Given the description of an element on the screen output the (x, y) to click on. 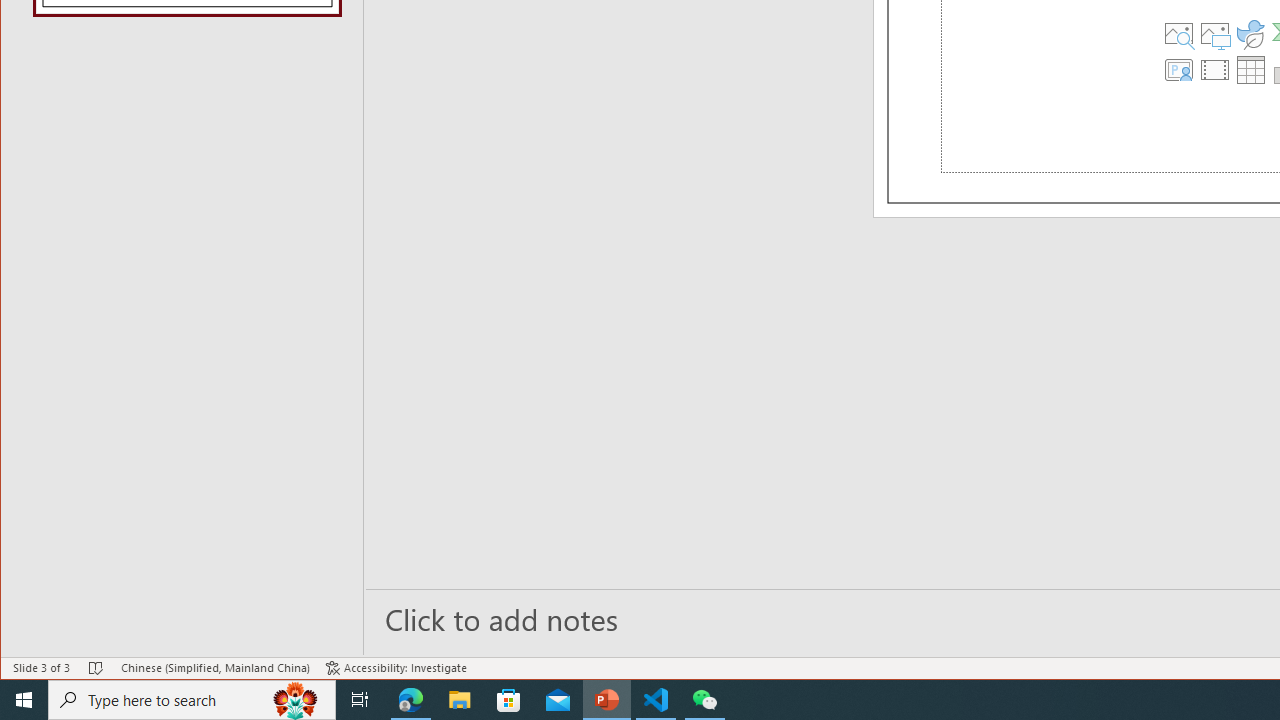
Insert Video (1215, 69)
WeChat - 1 running window (704, 699)
Stock Images (1179, 33)
Insert Table (1251, 69)
Insert an Icon (1251, 33)
